Given the description of an element on the screen output the (x, y) to click on. 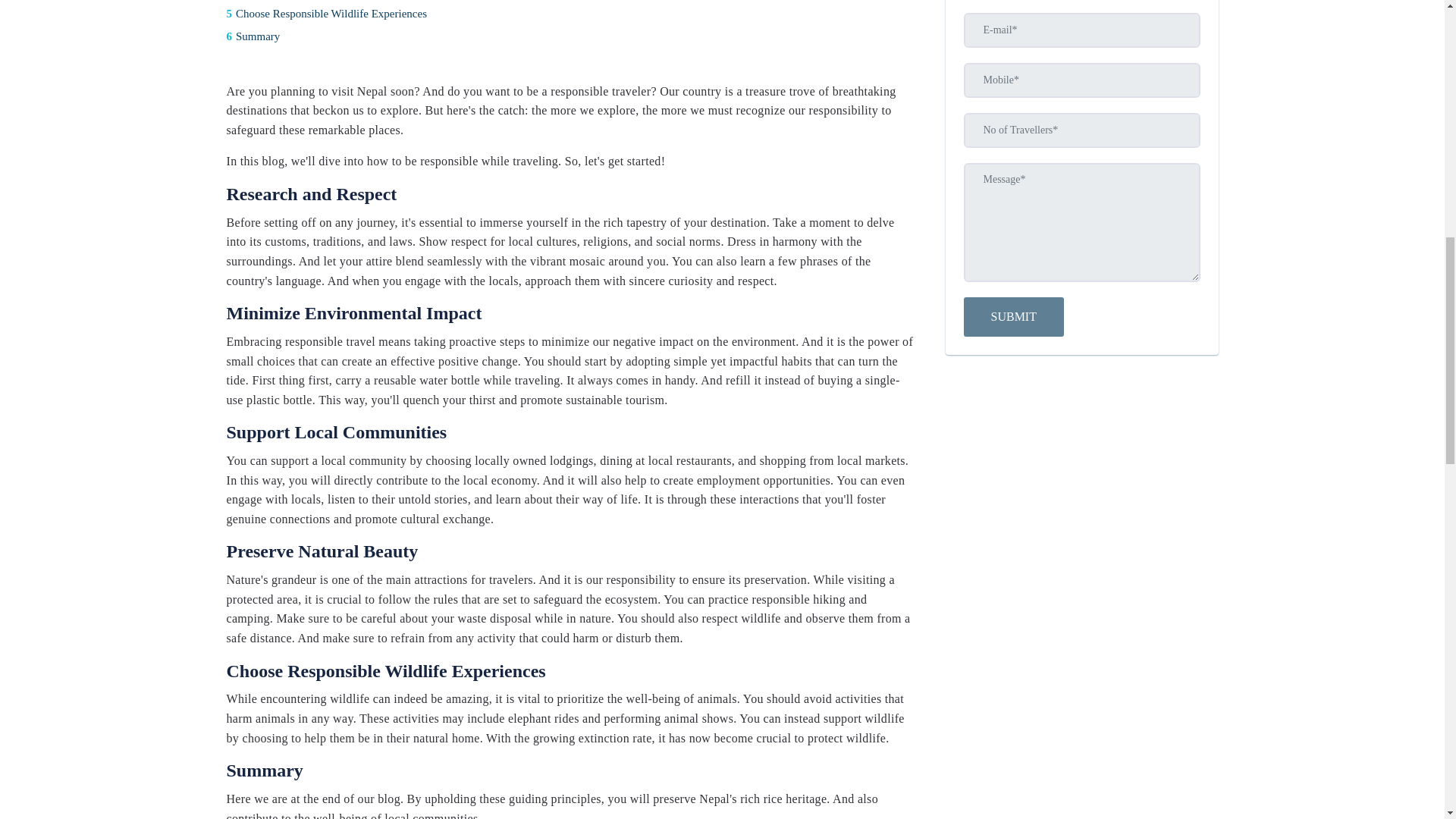
Choose Responsible Wildlife Experiences (569, 13)
SUBMIT (1012, 316)
Summary (569, 36)
